Given the description of an element on the screen output the (x, y) to click on. 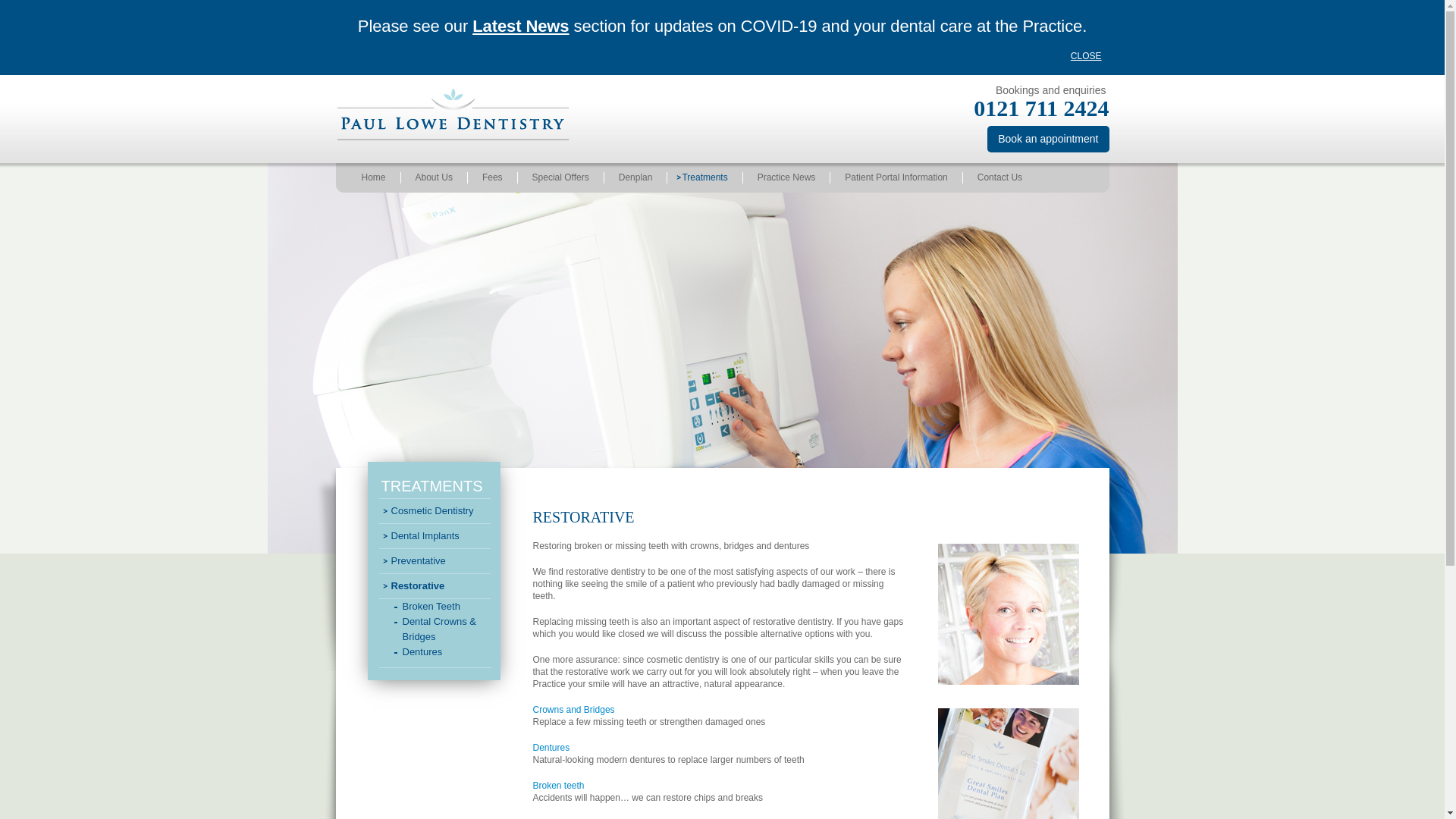
Patient Portal Information (895, 177)
About Us (434, 177)
Practice News (786, 177)
Dentures (550, 747)
Treatments (704, 177)
Broken Teeth (557, 785)
Denplan (636, 177)
Contact Us (999, 177)
Book an appointment (1047, 139)
Fees (492, 177)
